Given the description of an element on the screen output the (x, y) to click on. 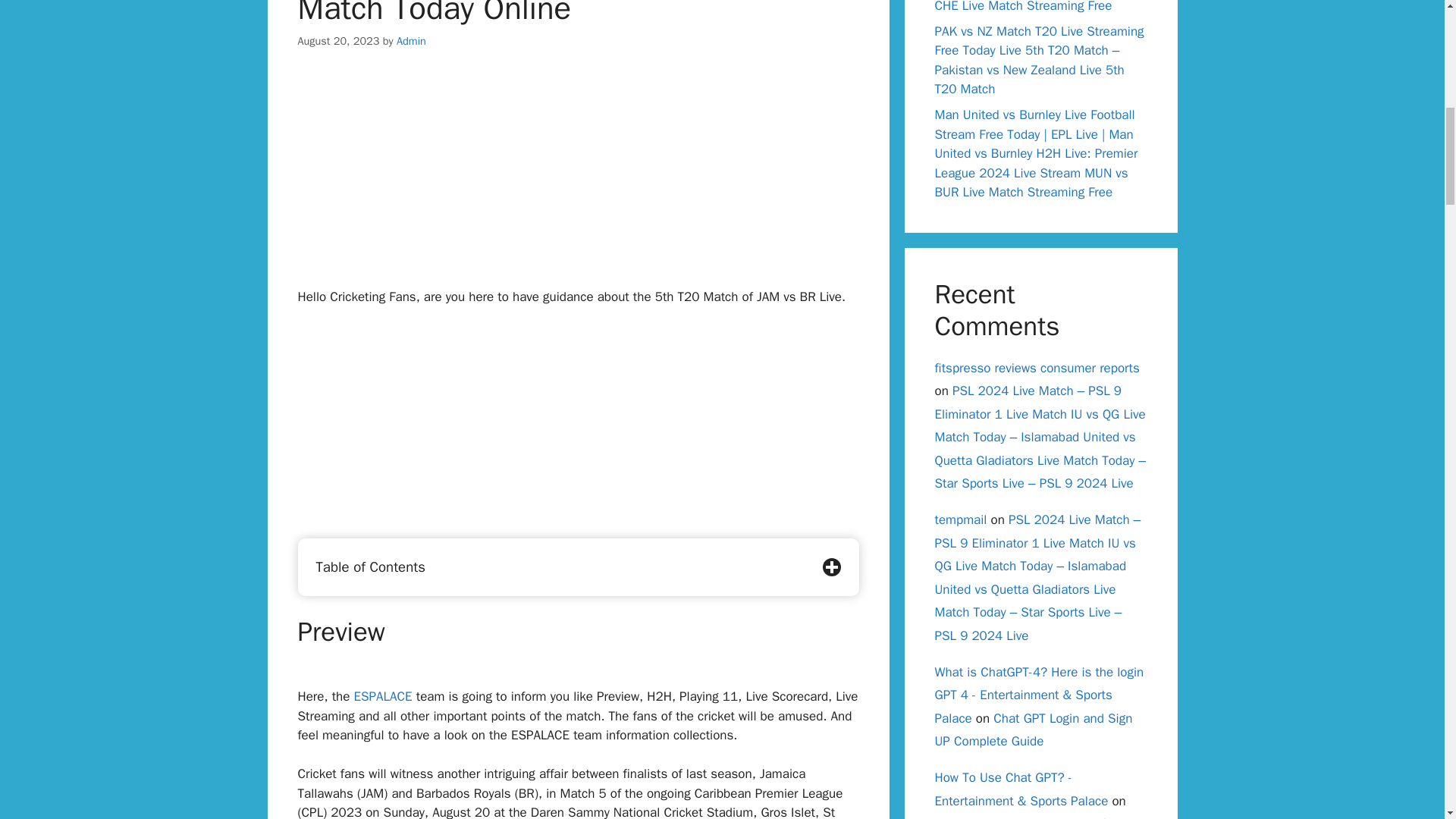
Admin (411, 40)
Advertisement (578, 181)
ESPALACE (382, 696)
Advertisement (578, 431)
View all posts by Admin (411, 40)
